Given the description of an element on the screen output the (x, y) to click on. 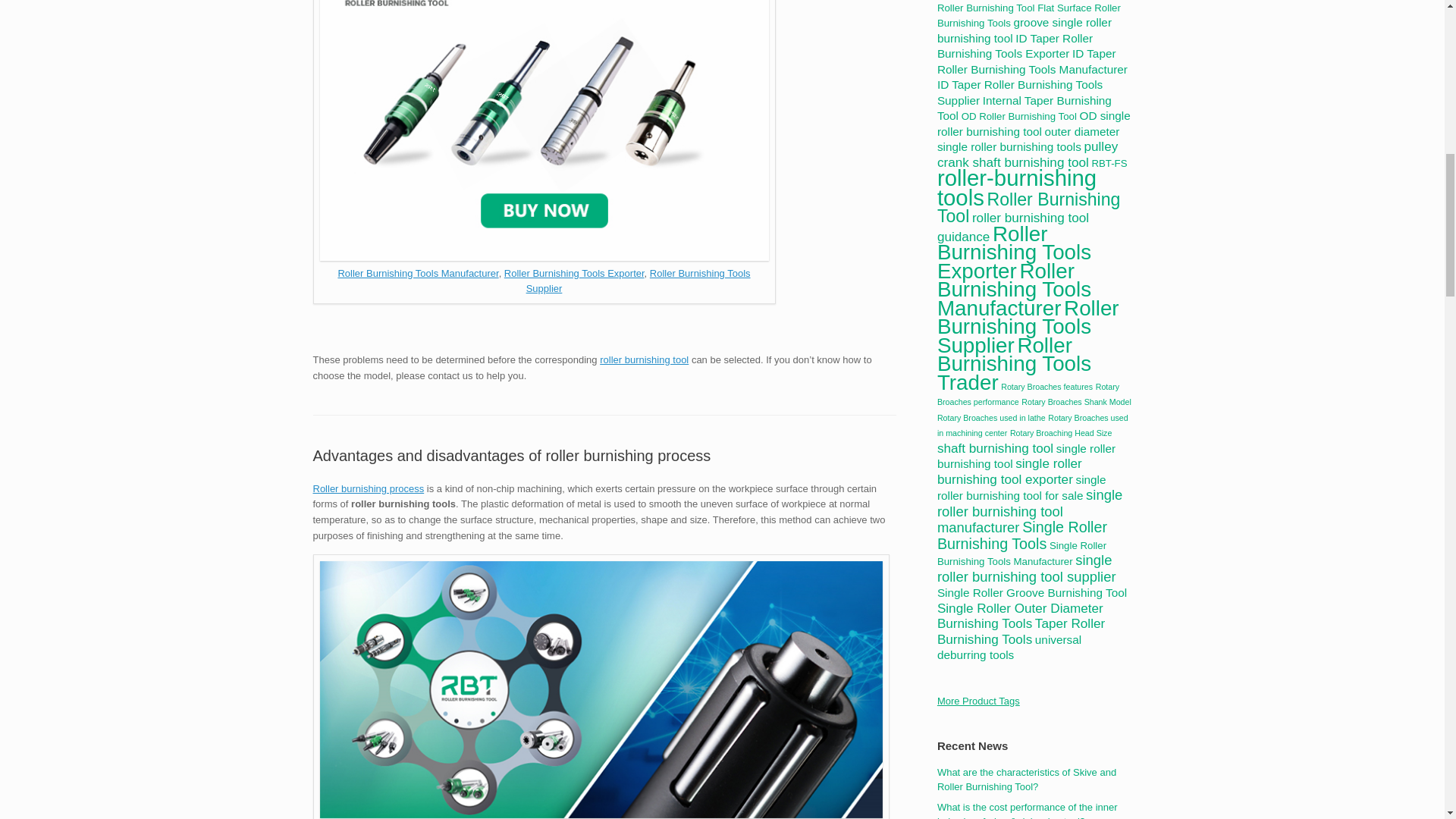
Roller burnishing process (368, 488)
Roller Burnishing Tools Exporter (574, 273)
roller burnishing tool (643, 359)
Roller Burnishing Tools Supplier (638, 280)
Roller Burnishing Tools Manufacturer (417, 273)
Advantages and disadvantages of roller burnishing process (511, 455)
